Given the description of an element on the screen output the (x, y) to click on. 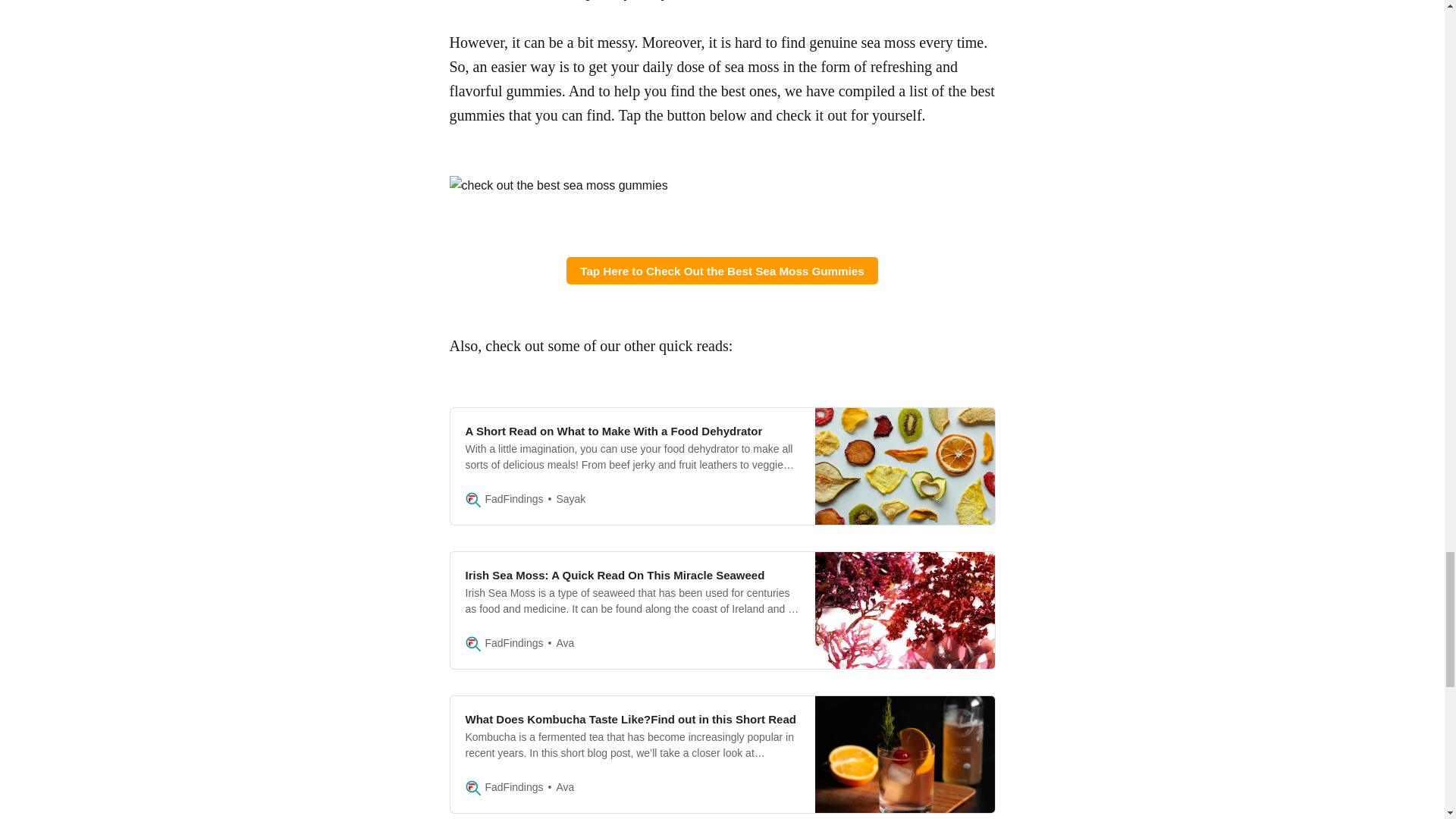
Tap Here to Check Out the Best Sea Moss Gummies (721, 270)
